Given the description of an element on the screen output the (x, y) to click on. 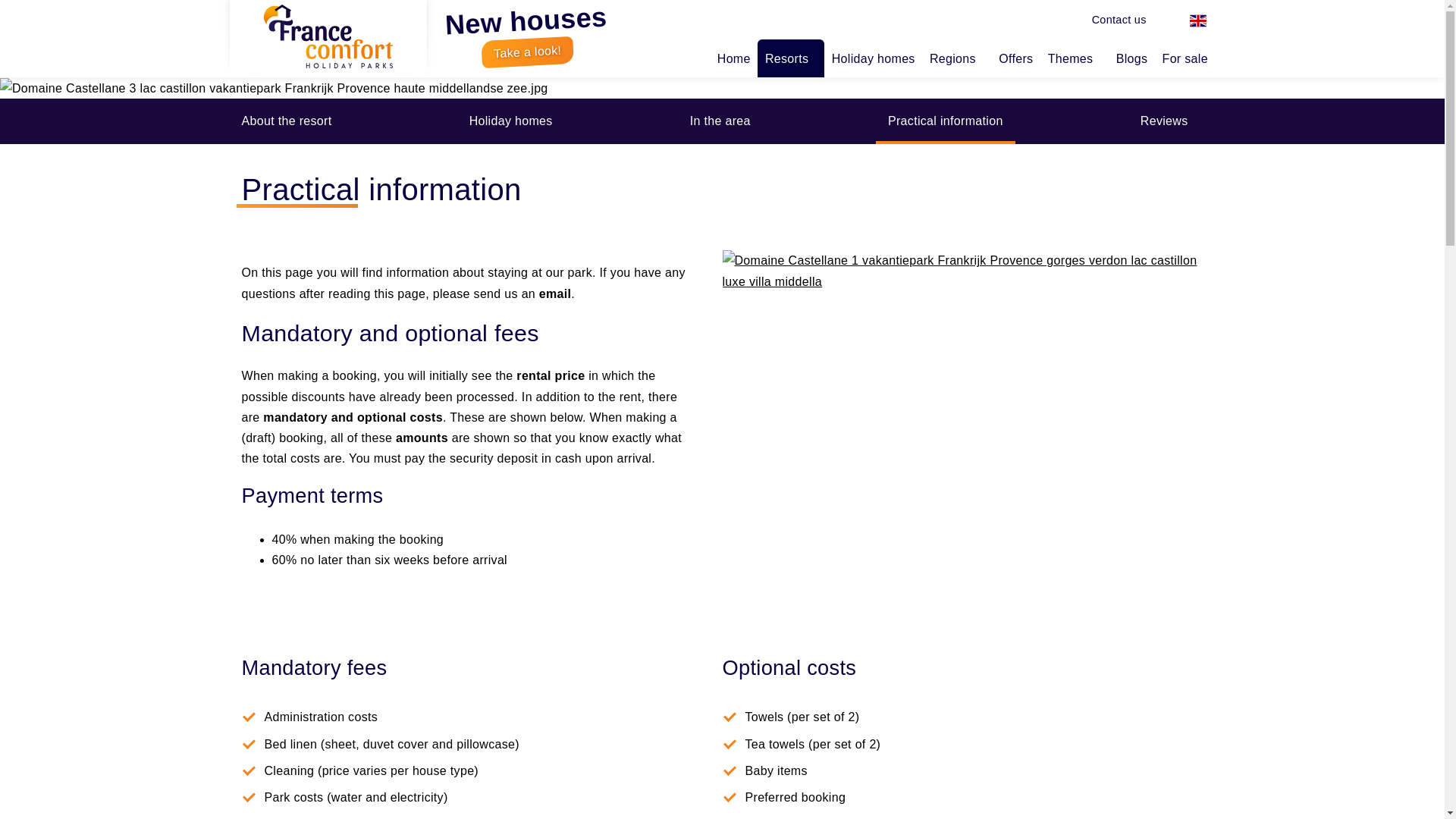
Take a look! (526, 49)
Back to the homepage (327, 36)
Home (733, 57)
Resorts (790, 57)
Contact us (1119, 19)
